Given the description of an element on the screen output the (x, y) to click on. 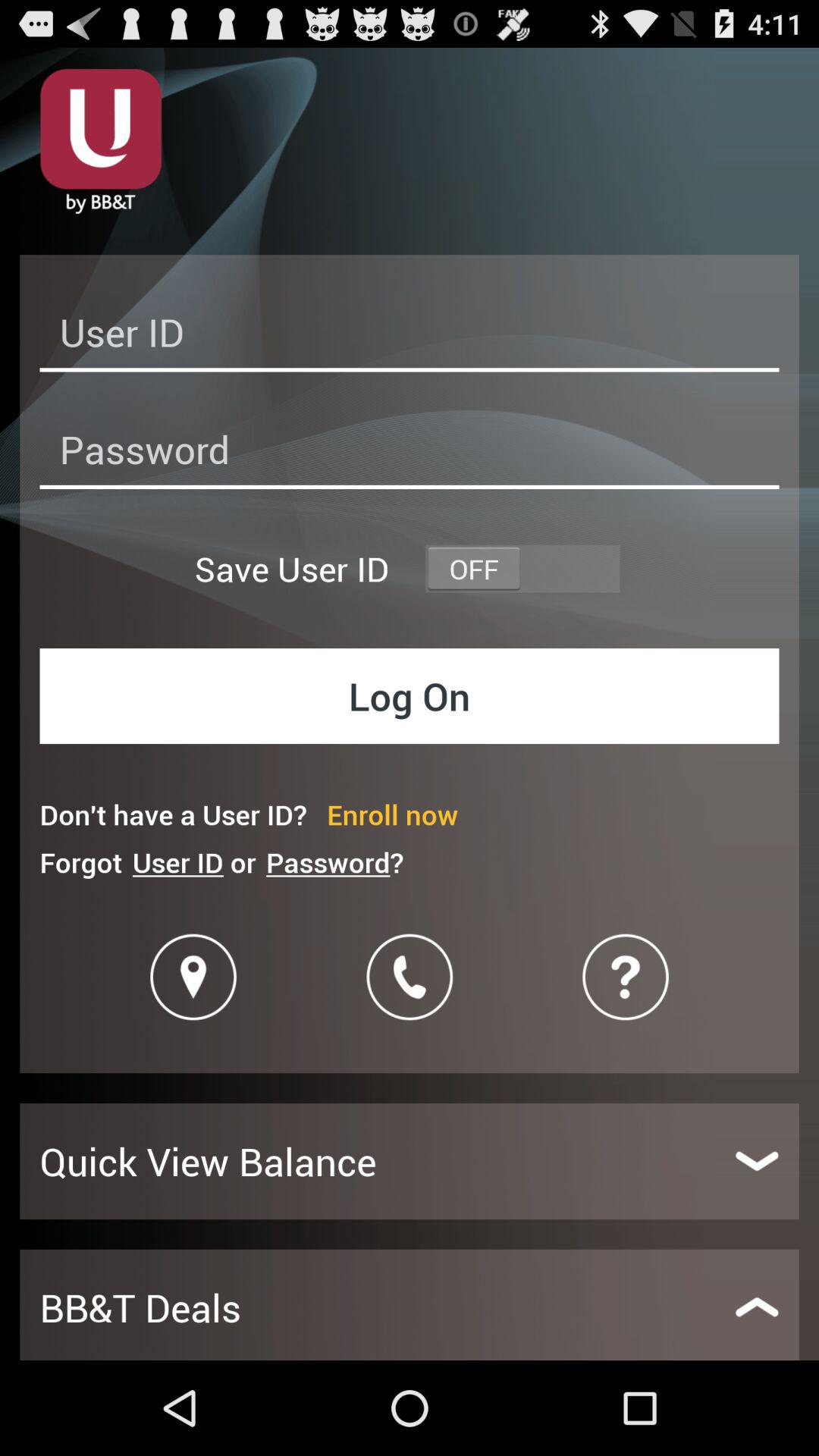
flip until the log on button (409, 695)
